Given the description of an element on the screen output the (x, y) to click on. 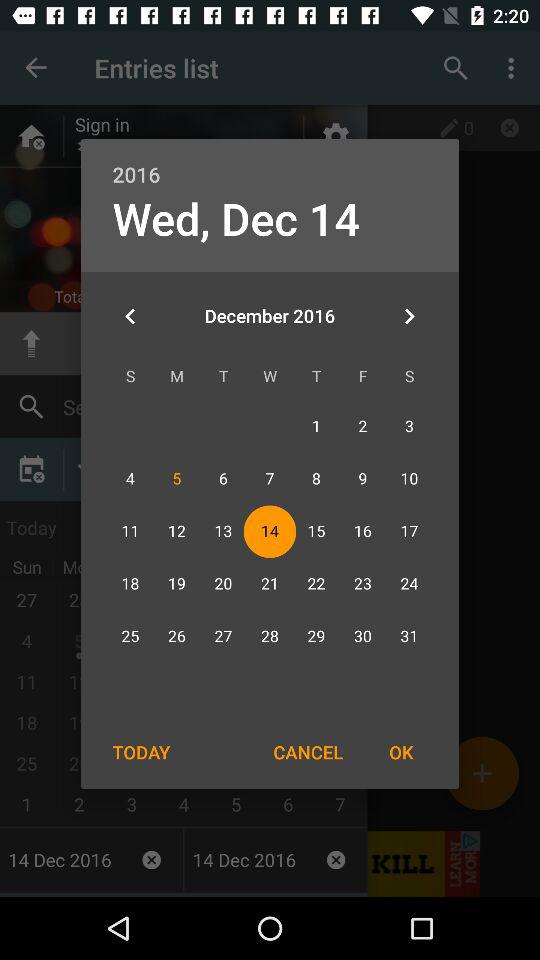
launch icon above the today (130, 316)
